Given the description of an element on the screen output the (x, y) to click on. 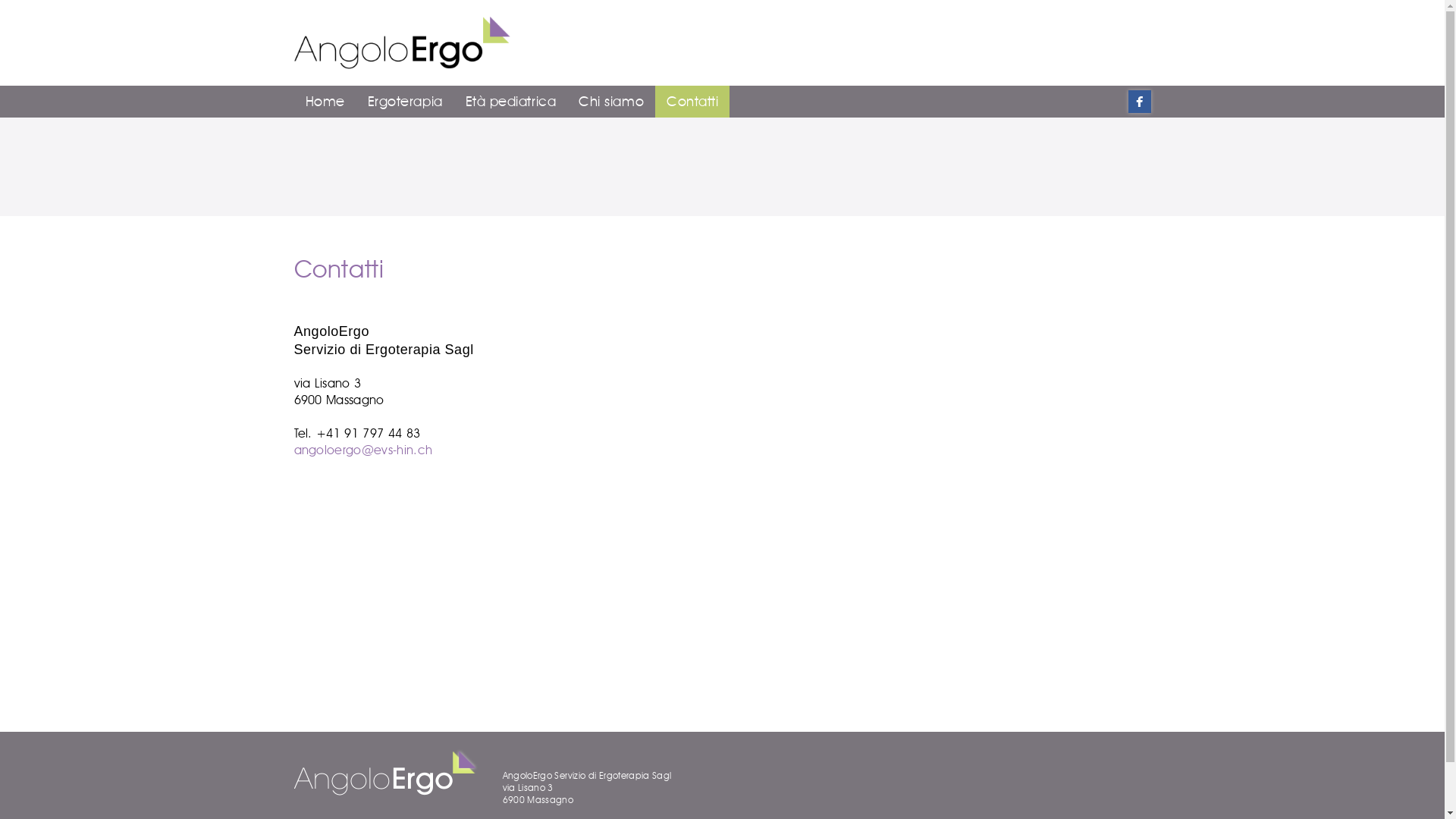
Chi siamo Element type: text (611, 101)
Seguici anche su Facebook Element type: hover (1139, 101)
Contatti Element type: text (692, 101)
angoloergo@evs-hin.ch Element type: text (363, 449)
Home Element type: text (325, 101)
Ergoterapia Element type: text (405, 101)
